Given the description of an element on the screen output the (x, y) to click on. 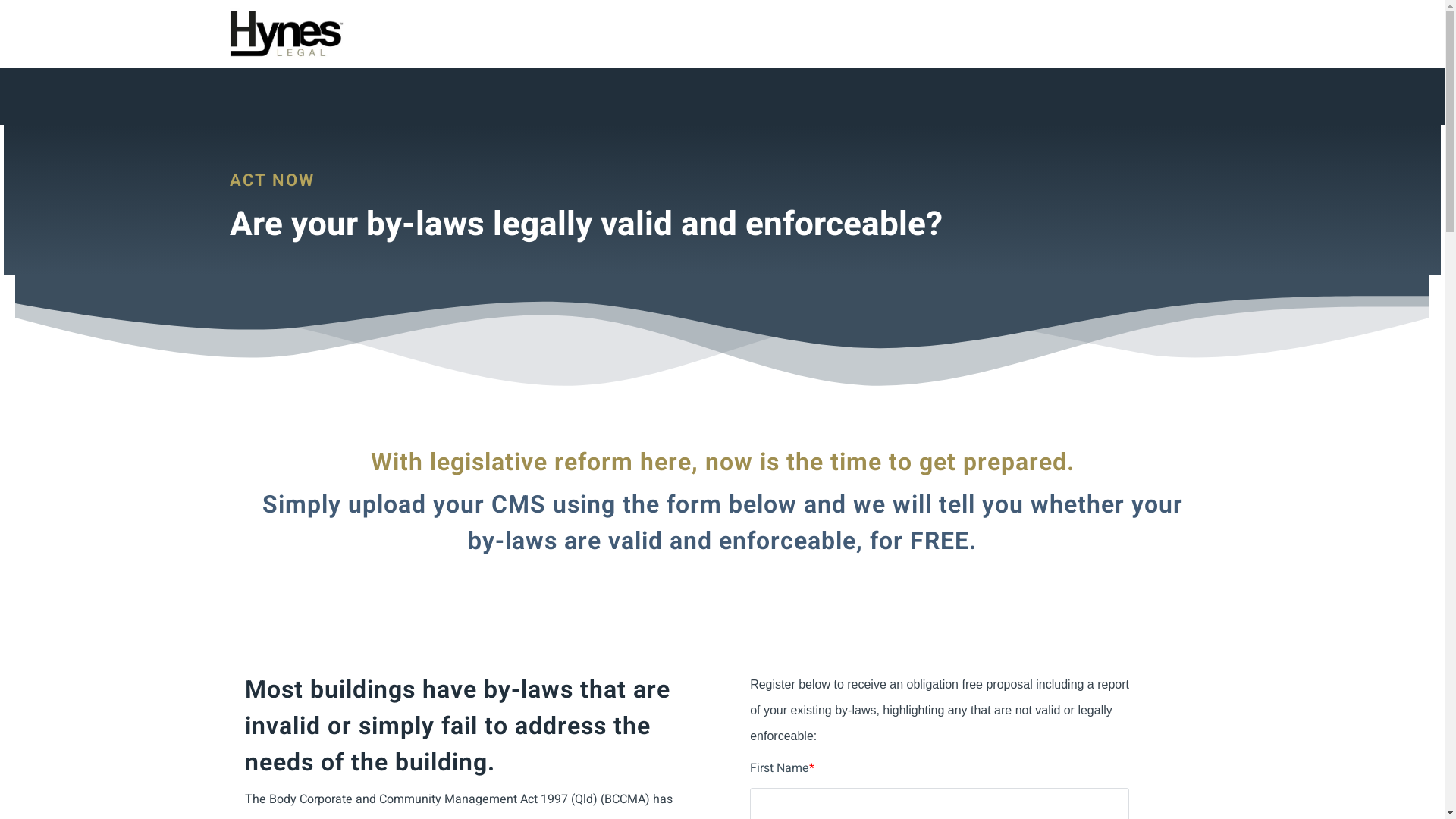
Logo Element type: hover (285, 33)
